Given the description of an element on the screen output the (x, y) to click on. 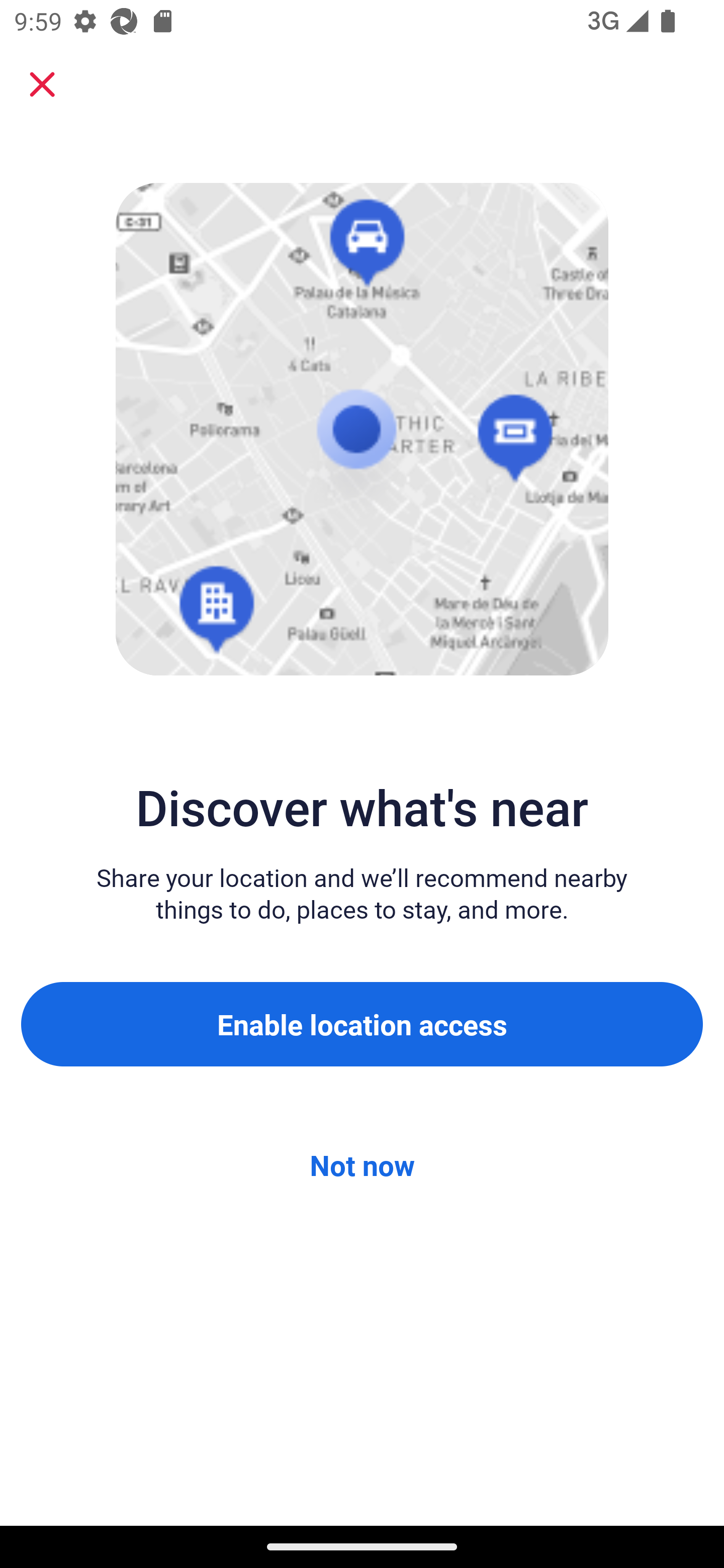
Close sheet (42, 84)
Enable location access (361, 1023)
Not now (362, 1164)
